Given the description of an element on the screen output the (x, y) to click on. 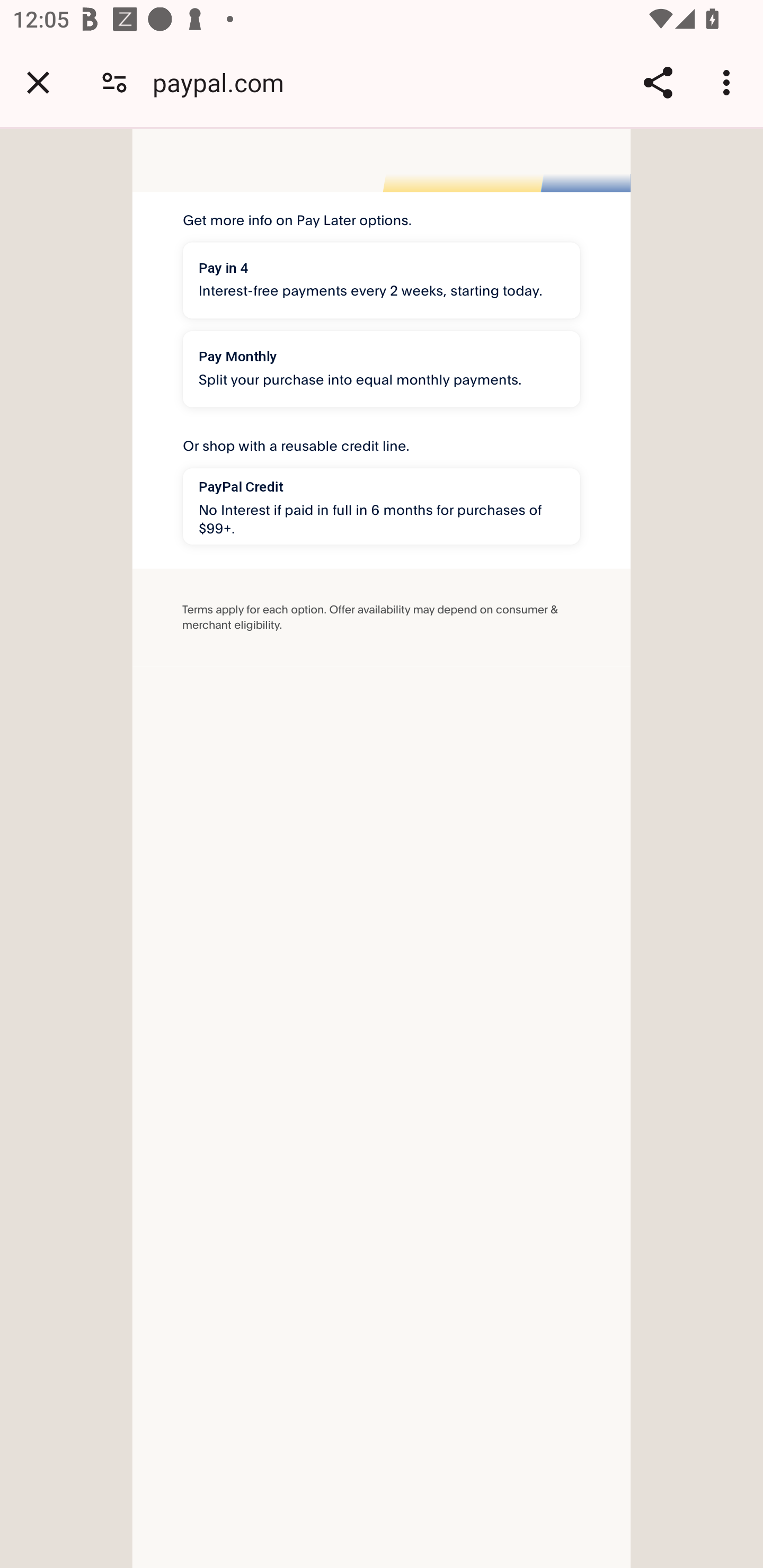
Close tab (38, 82)
Share (657, 82)
Customize and control Google Chrome (729, 82)
Connection is secure (114, 81)
paypal.com (224, 81)
